Given the description of an element on the screen output the (x, y) to click on. 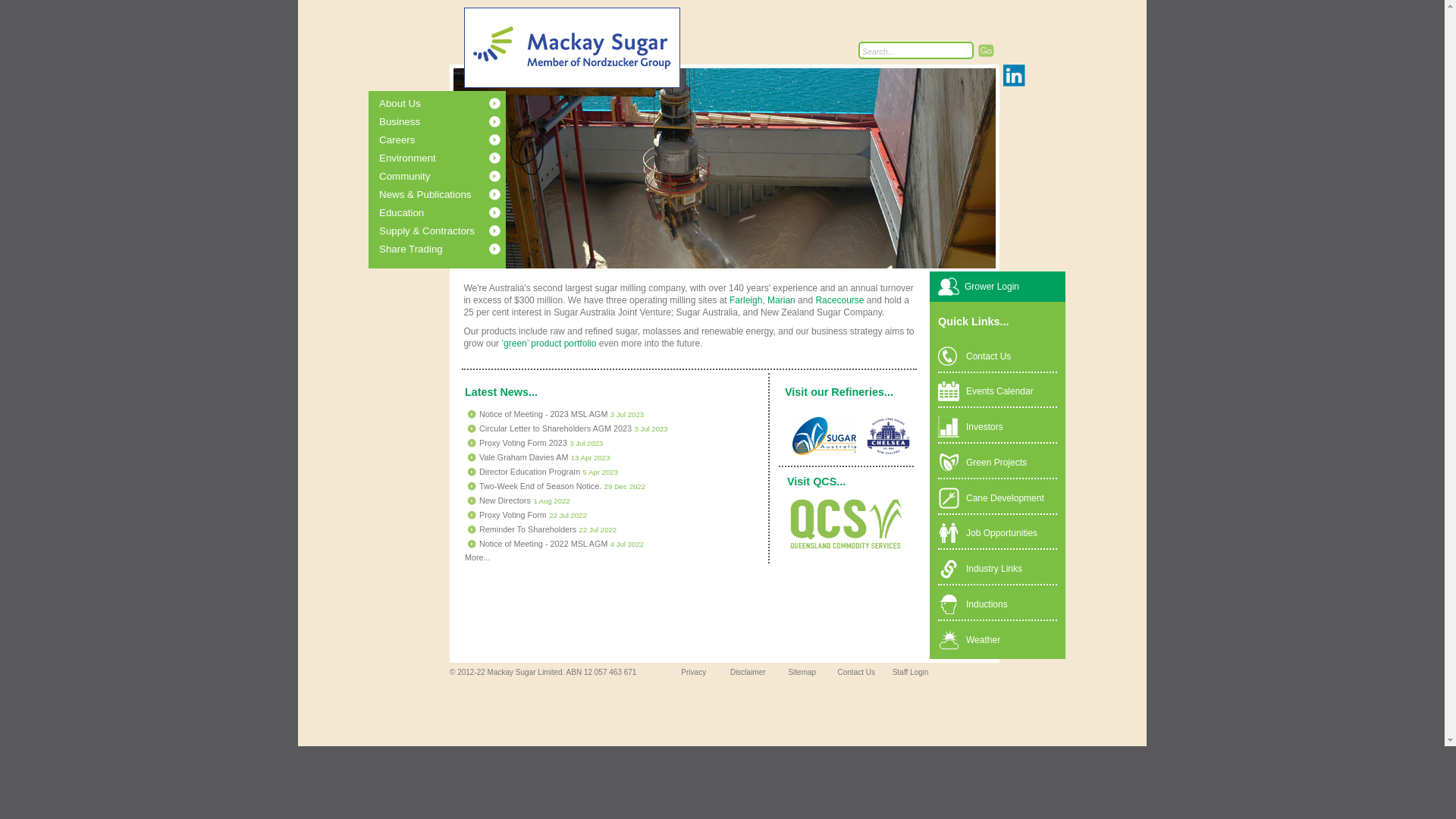
Reminder To Shareholders Element type: text (527, 528)
Proxy Voting Form Element type: text (512, 513)
Notice of Meeting - 2023 MSL AGM Element type: text (543, 412)
Education Element type: text (454, 213)
Search Element type: hover (986, 49)
News & Publications Element type: text (454, 194)
Environment Element type: text (454, 158)
Cane Development Element type: text (1005, 497)
Search... Element type: hover (915, 50)
Two-Week End of Season Notice. Element type: text (540, 484)
Share Trading Element type: text (454, 249)
Community Element type: text (454, 176)
Director Education Program Element type: text (529, 470)
More... Element type: text (477, 556)
Racecourse Element type: text (839, 299)
Sitemap Element type: text (801, 672)
Vale Graham Davies AM Element type: text (523, 456)
Grower Login Element type: text (991, 286)
Supply & Contractors Element type: text (454, 231)
Job Opportunities Element type: text (1001, 532)
Proxy Voting Form 2023 Element type: text (523, 441)
Circular Letter to Shareholders AGM 2023 Element type: text (555, 427)
New Directors Element type: text (504, 499)
Contact Us Element type: text (856, 672)
About Us Element type: text (454, 103)
Investors Element type: text (984, 426)
Green Projects Element type: text (996, 462)
Marian Element type: text (781, 299)
Careers Element type: text (454, 140)
Disclaimer Element type: text (747, 672)
Events Calendar Element type: text (999, 390)
Privacy Element type: text (693, 672)
Business Element type: text (454, 122)
Weather Element type: text (983, 639)
Farleigh Element type: text (745, 299)
Notice of Meeting - 2022 MSL AGM Element type: text (543, 542)
Industry Links Element type: text (994, 568)
Inductions Element type: text (986, 604)
Staff Login Element type: text (910, 672)
Contact Us Element type: text (988, 355)
